Given the description of an element on the screen output the (x, y) to click on. 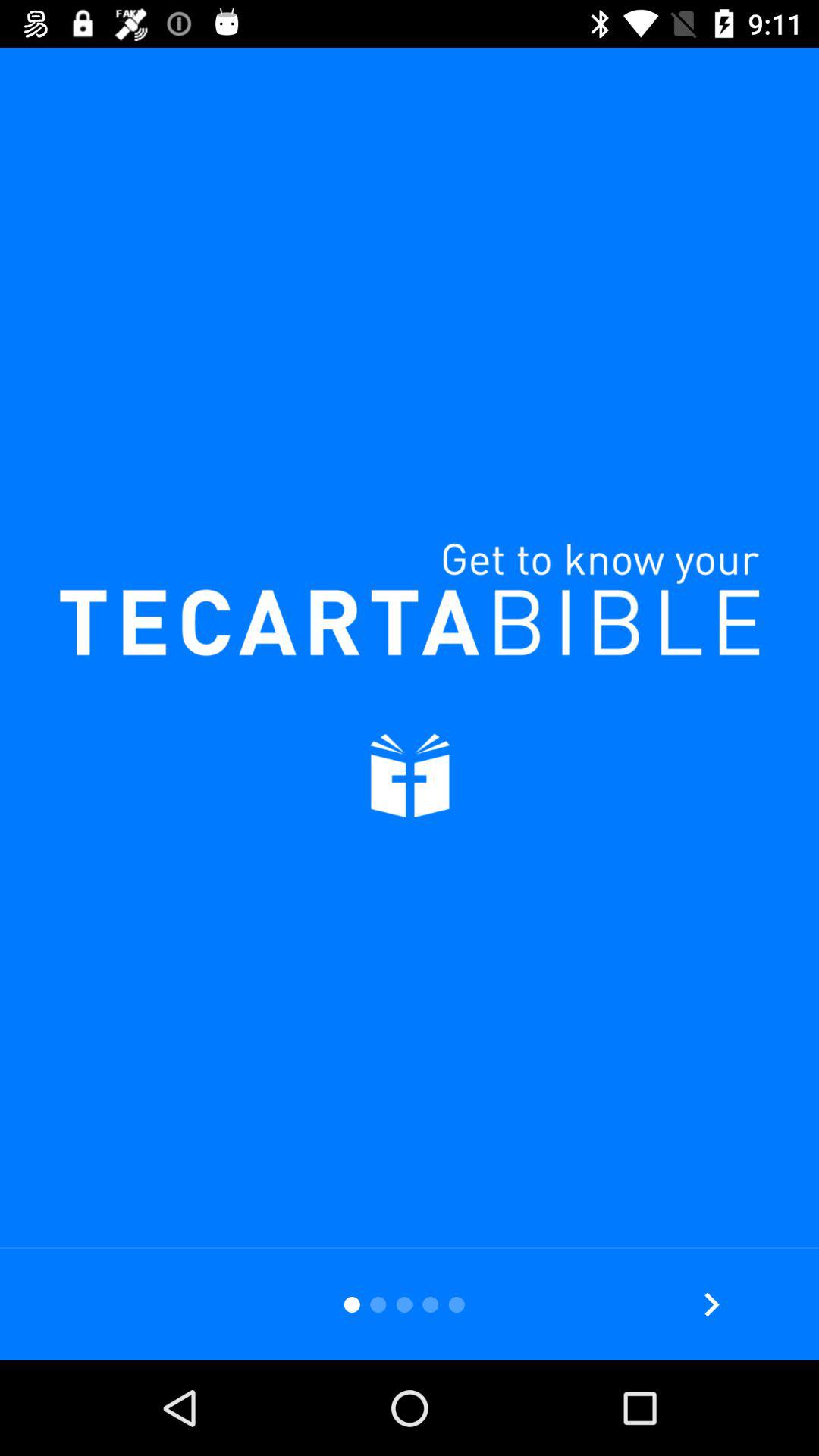
click item at the bottom right corner (711, 1304)
